Given the description of an element on the screen output the (x, y) to click on. 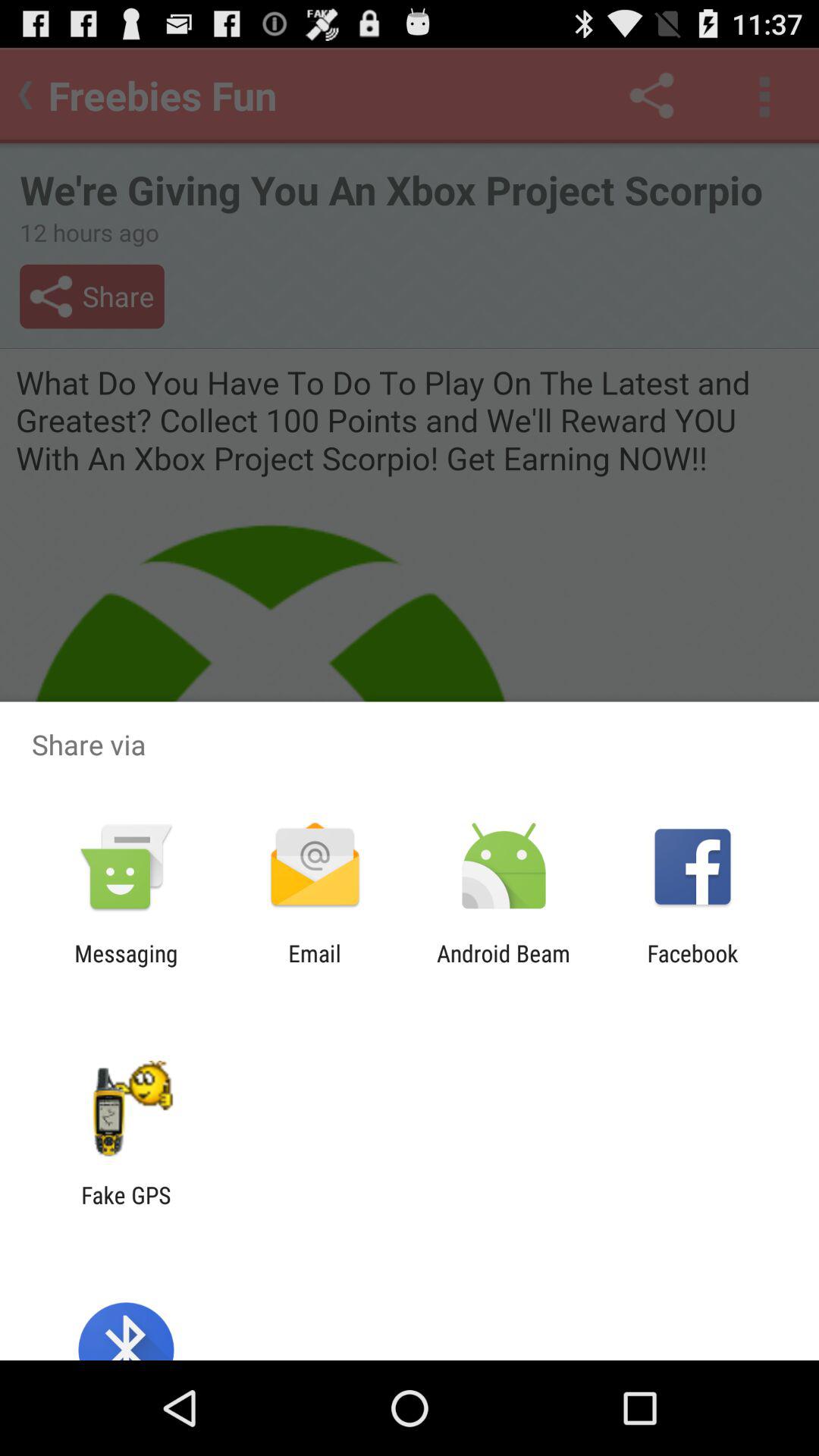
open icon to the left of facebook (503, 966)
